Given the description of an element on the screen output the (x, y) to click on. 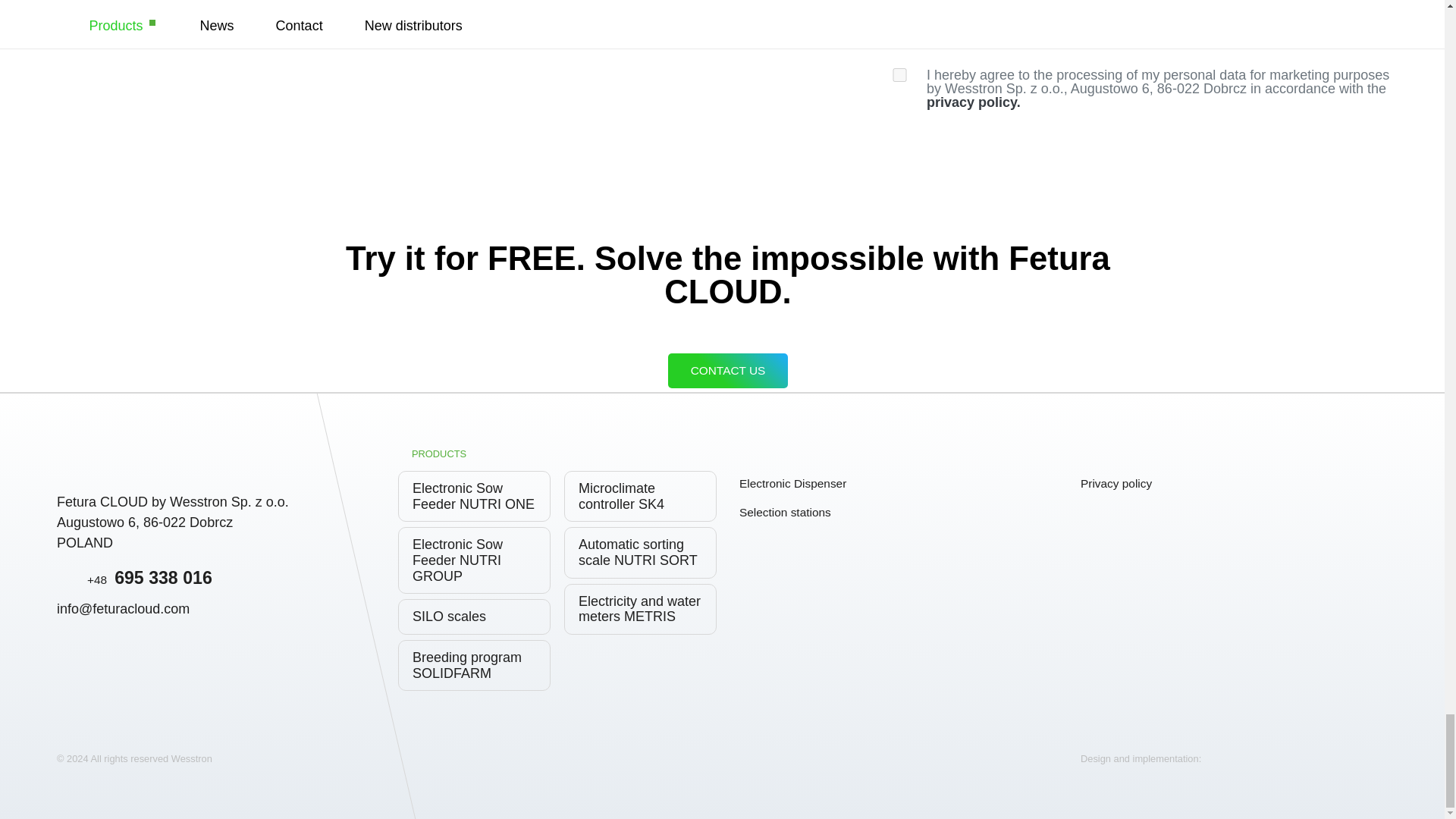
1 (899, 74)
052B Agencja Interaktywna (1248, 773)
